Given the description of an element on the screen output the (x, y) to click on. 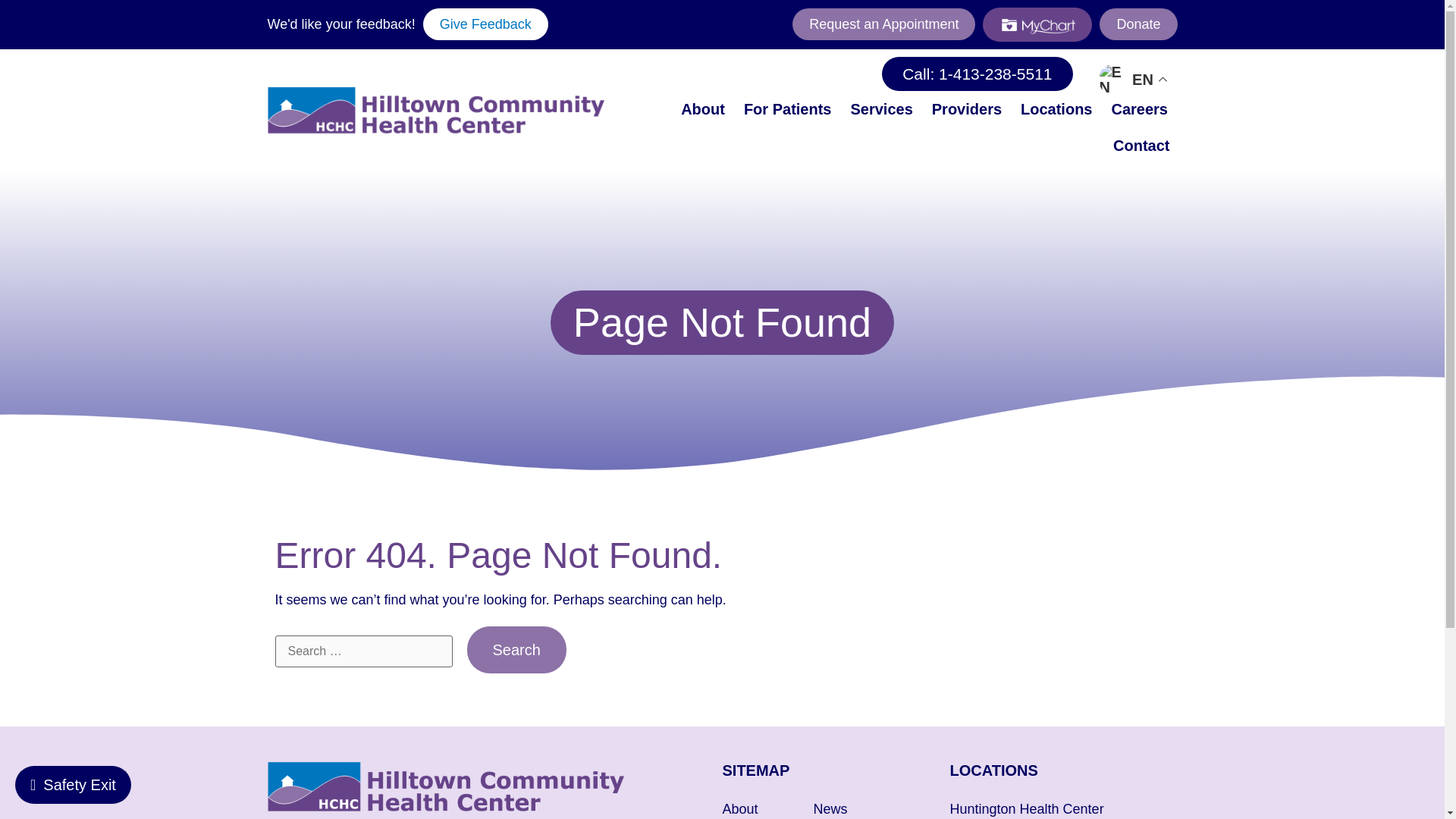
Search (516, 649)
Donate (1137, 24)
Call: 1-413-238-5511 (976, 73)
Search (516, 649)
Request an Appointment (883, 24)
For Patients (788, 108)
Safety Exit (72, 784)
Give Feedback (485, 24)
About (702, 108)
